Given the description of an element on the screen output the (x, y) to click on. 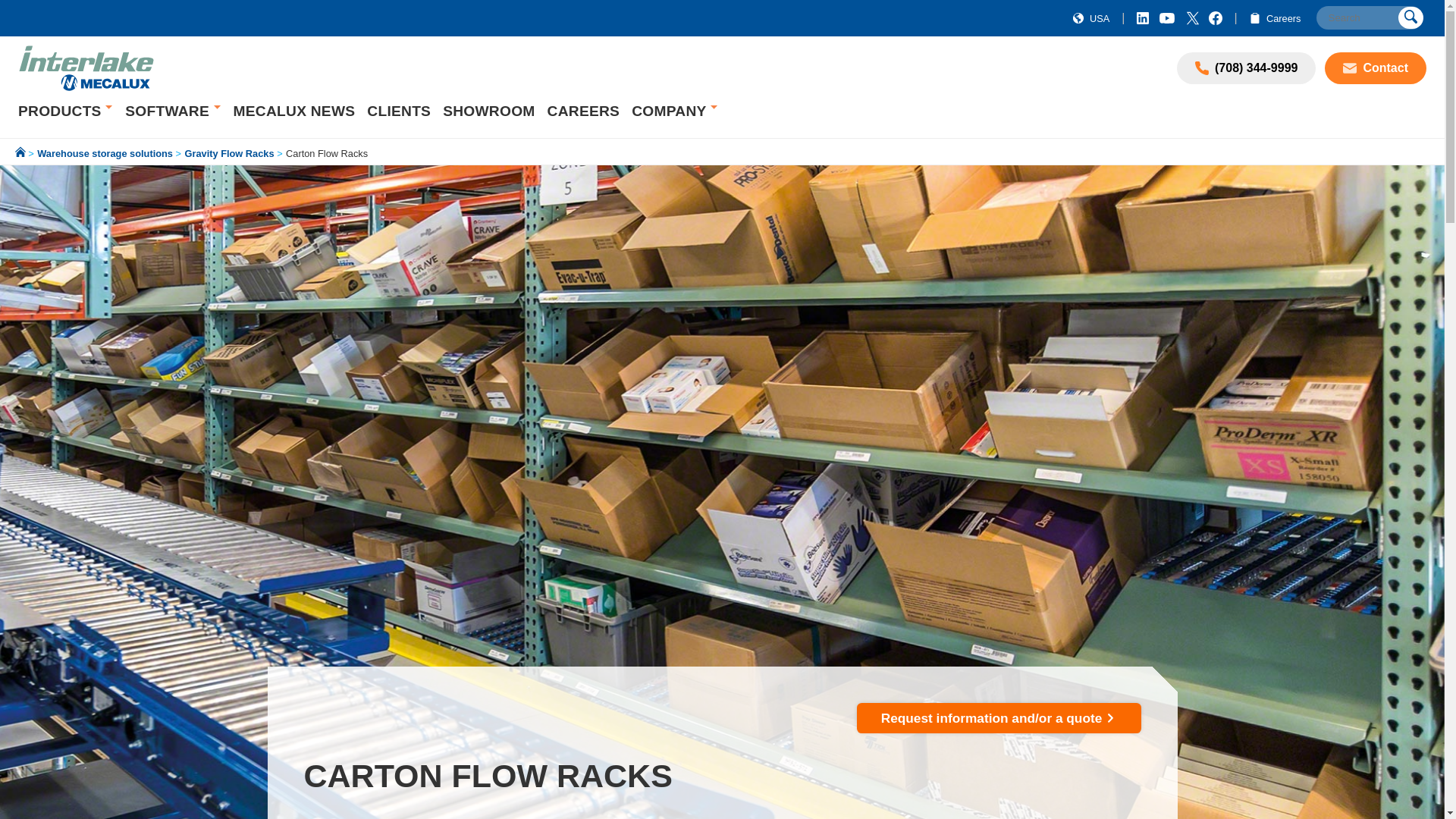
Search (1369, 17)
Interlake Mecalux, Warehouse solutions (85, 86)
Interlake Mecalux, Warehouse solutions (85, 67)
Careers (1272, 17)
Contact (1352, 68)
Contact (1375, 68)
Careers (1272, 17)
Contact (1375, 68)
PRODUCTS (60, 110)
Careers (1254, 18)
Warehouse storage solutions (60, 110)
SOFTWARE (168, 110)
